Given the description of an element on the screen output the (x, y) to click on. 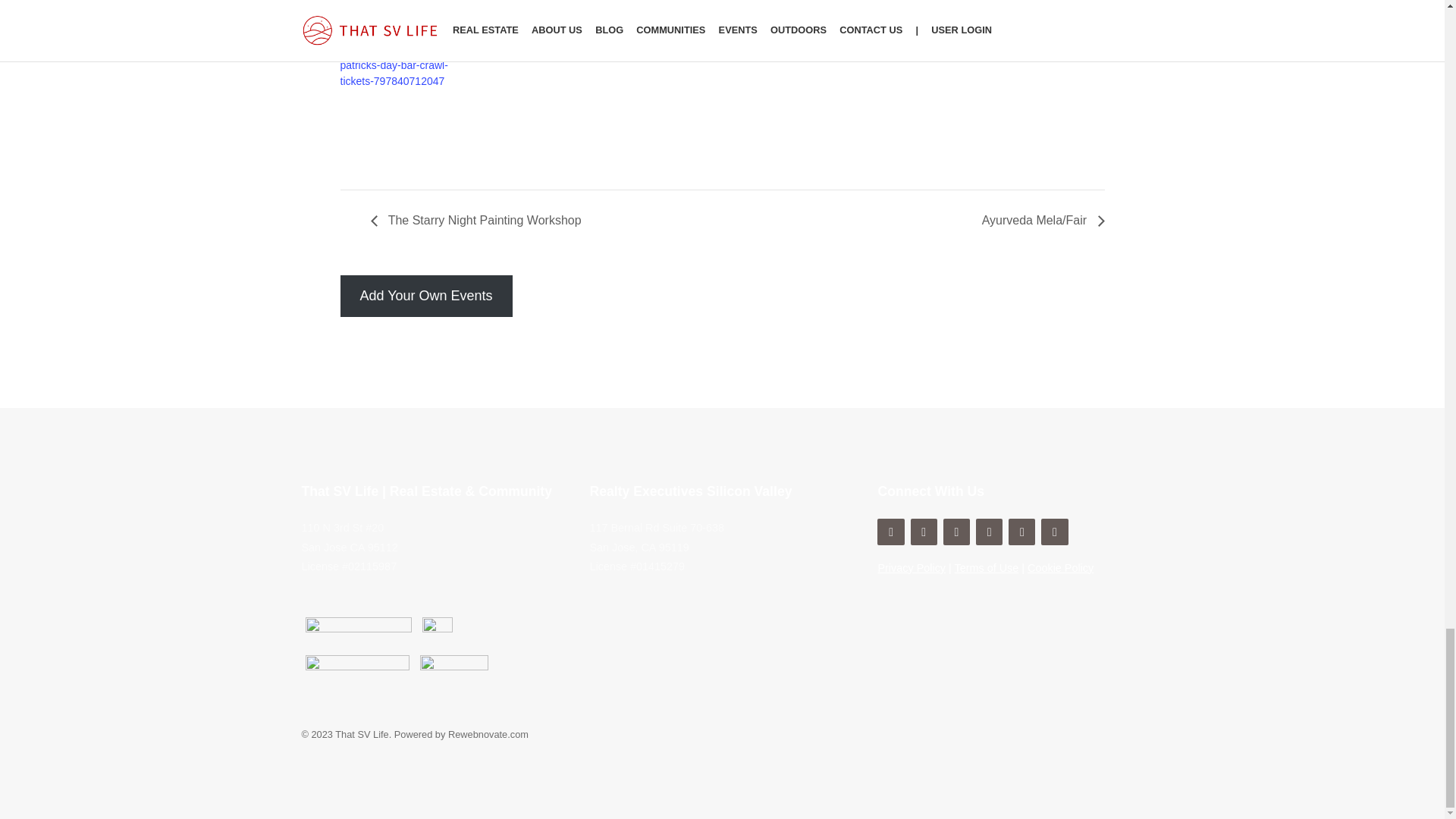
NAR-Cert (356, 670)
Contact (890, 531)
Instagram (956, 531)
SCCAOR-Cert (357, 632)
CAR-Cert (453, 670)
Facebook (924, 531)
Probate-Cert (436, 632)
